Given the description of an element on the screen output the (x, y) to click on. 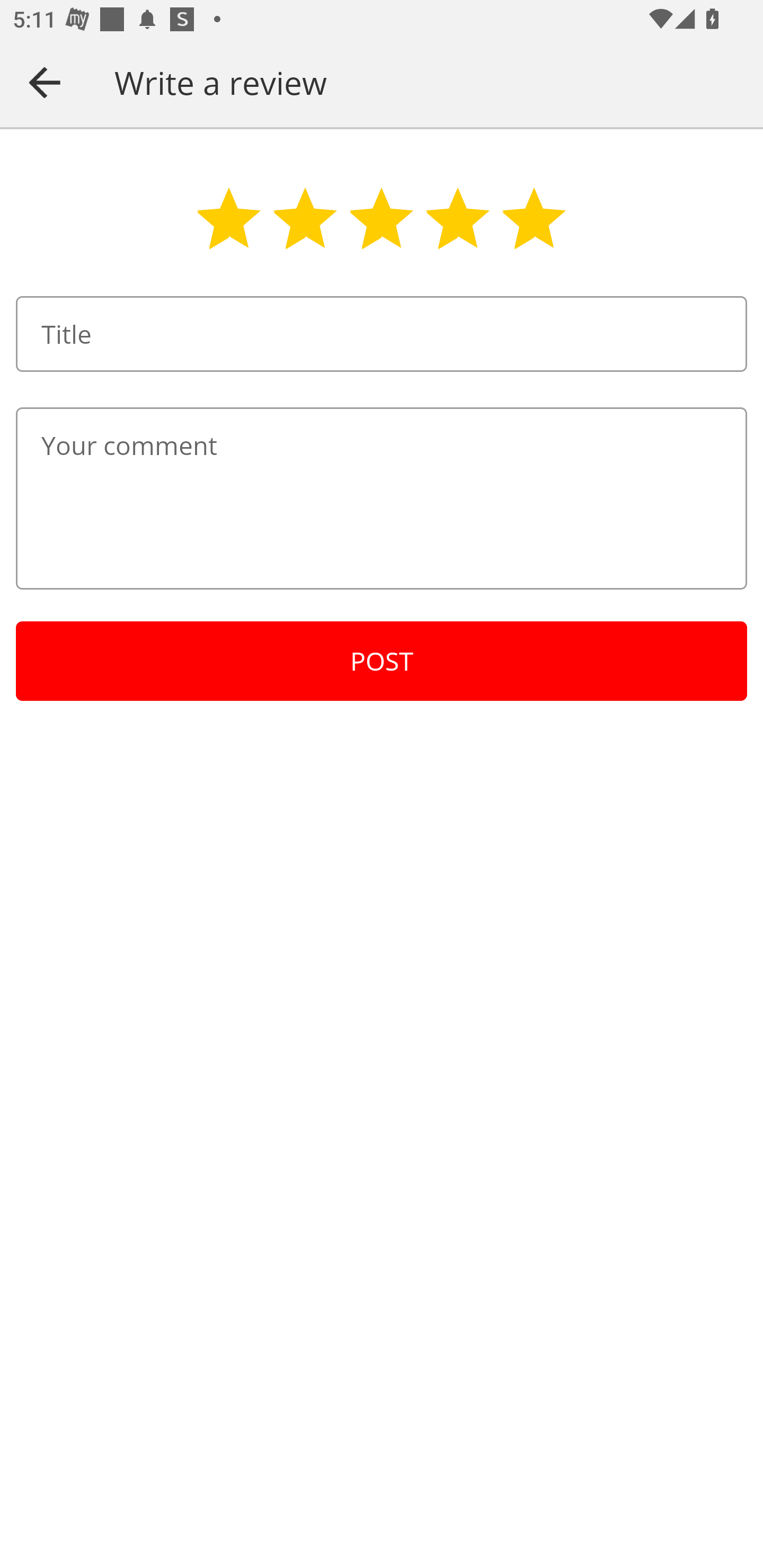
Navigate up (44, 82)
Title (381, 333)
Your comment (381, 498)
POST (381, 660)
